Given the description of an element on the screen output the (x, y) to click on. 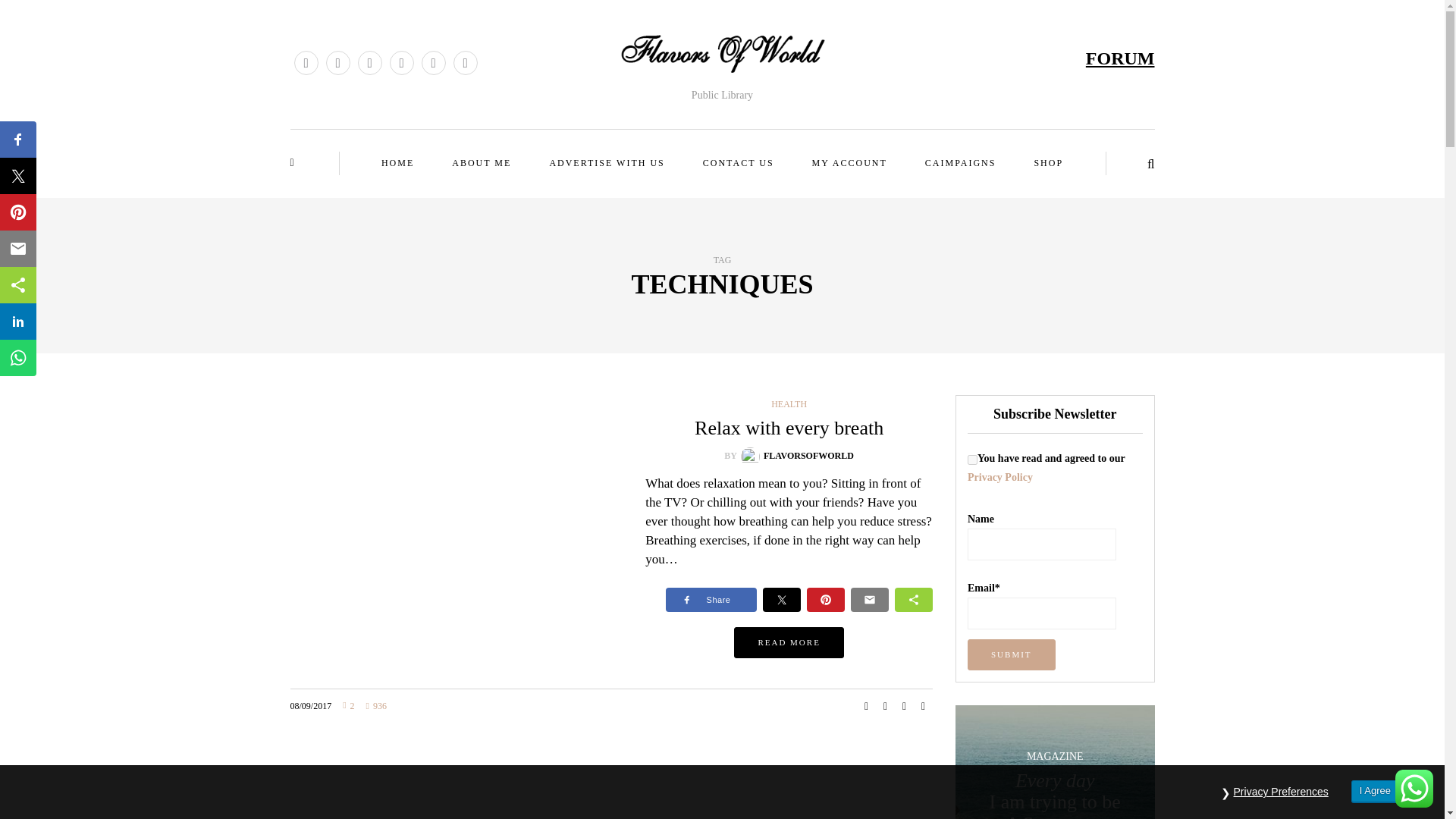
Privacy Policy (1000, 477)
Share with Google Plus (904, 706)
CONTACT US (737, 163)
MY ACCOUNT (849, 163)
FLAVORSOFWORLD (807, 455)
SHOP (1048, 163)
Submit (1011, 654)
Submit (1011, 654)
READ MORE (788, 642)
Advertisement (611, 790)
Tweet this (885, 706)
2 (347, 706)
HEALTH (788, 403)
Share this (866, 706)
